Given the description of an element on the screen output the (x, y) to click on. 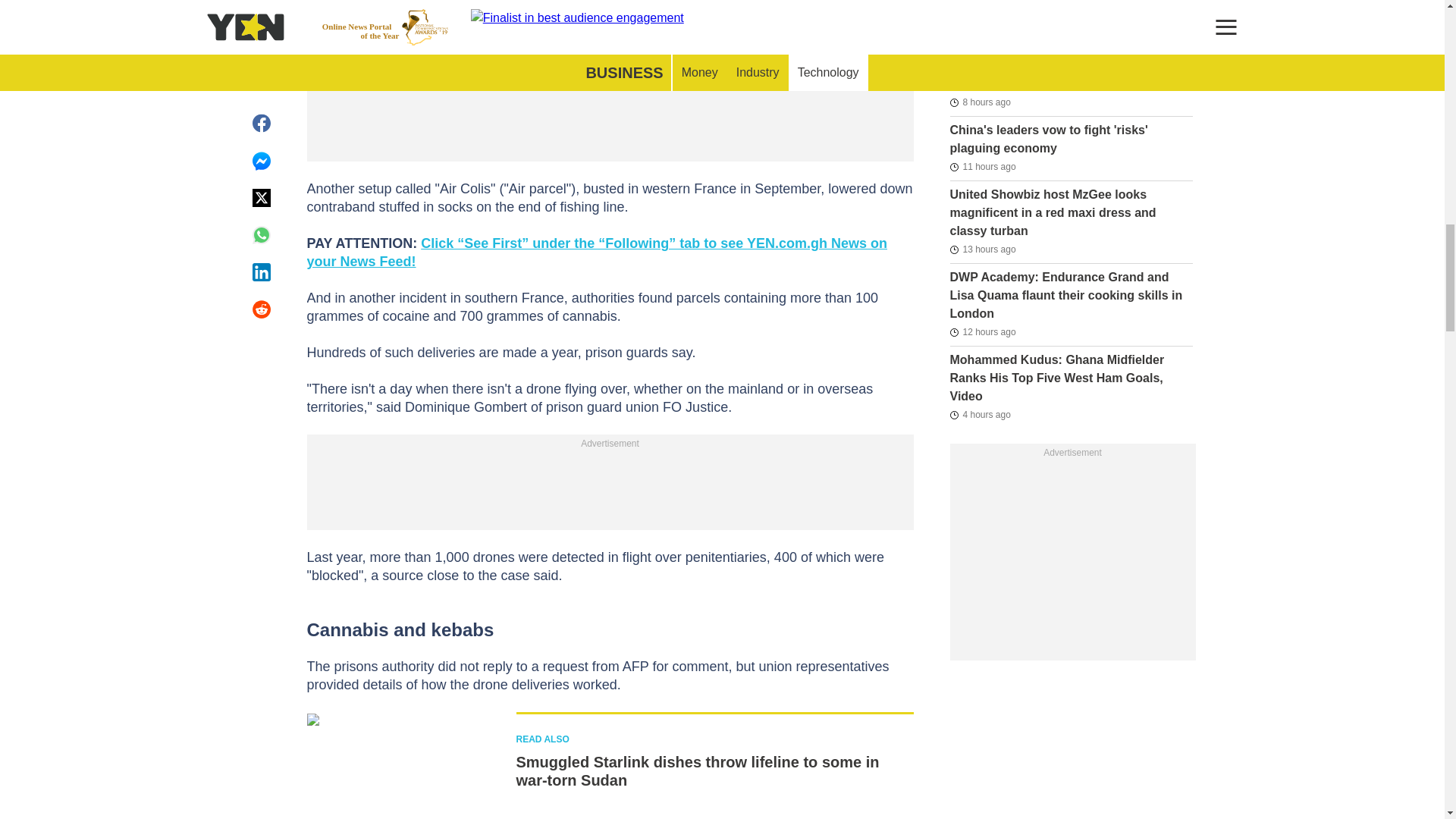
2024-07-18T12:56:20Z (979, 102)
2024-07-18T21:04:03Z (987, 1)
2024-07-18T10:26:03Z (981, 167)
